Given the description of an element on the screen output the (x, y) to click on. 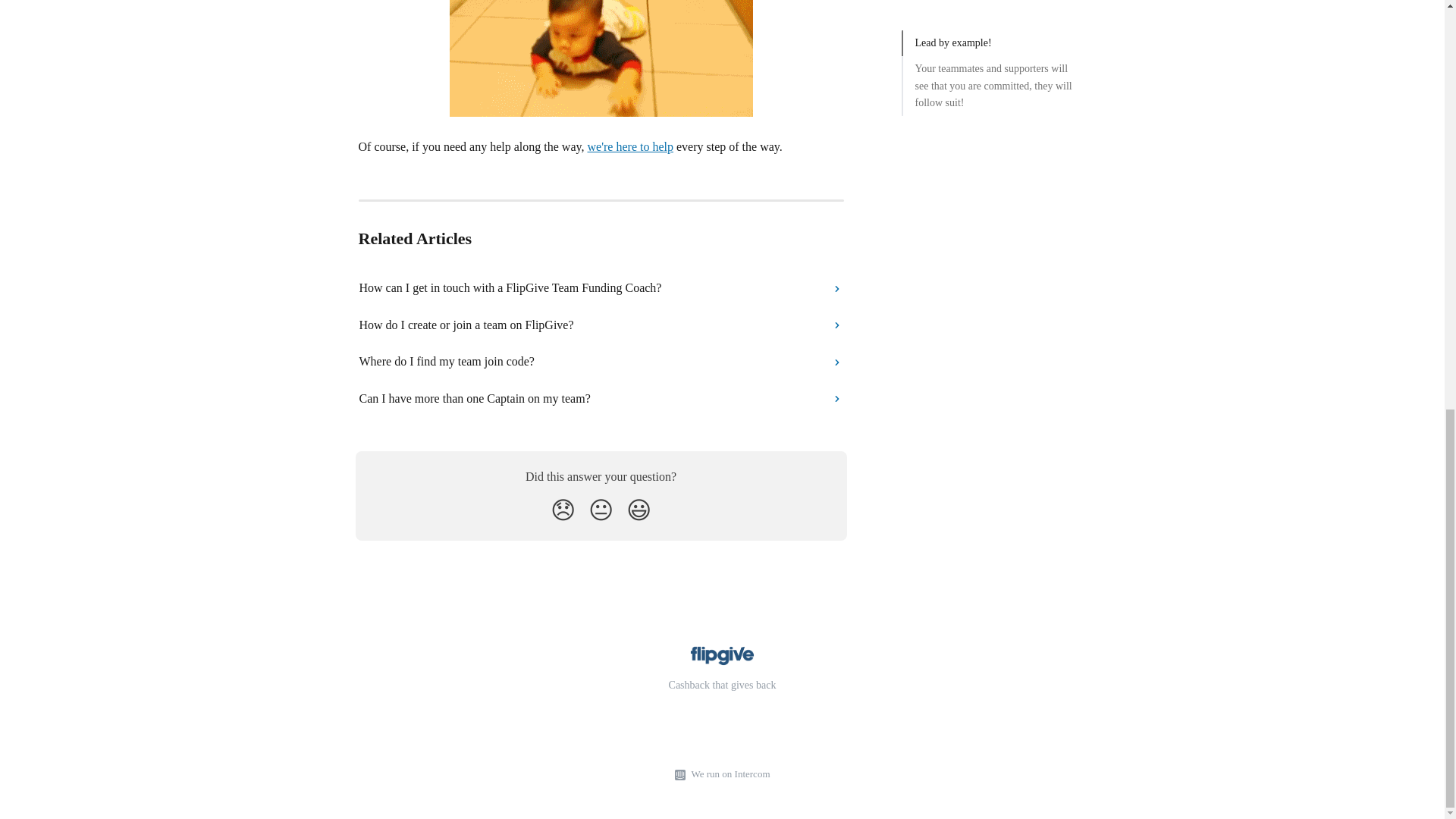
Disappointed (562, 510)
Smiley (638, 510)
Where do I find my team join code? (600, 361)
How can I get in touch with a FlipGive Team Funding Coach? (600, 288)
We run on Intercom (727, 774)
Neutral (600, 510)
we're here to help (629, 146)
How do I create or join a team on FlipGive? (600, 325)
Can I have more than one Captain on my team? (600, 398)
